Given the description of an element on the screen output the (x, y) to click on. 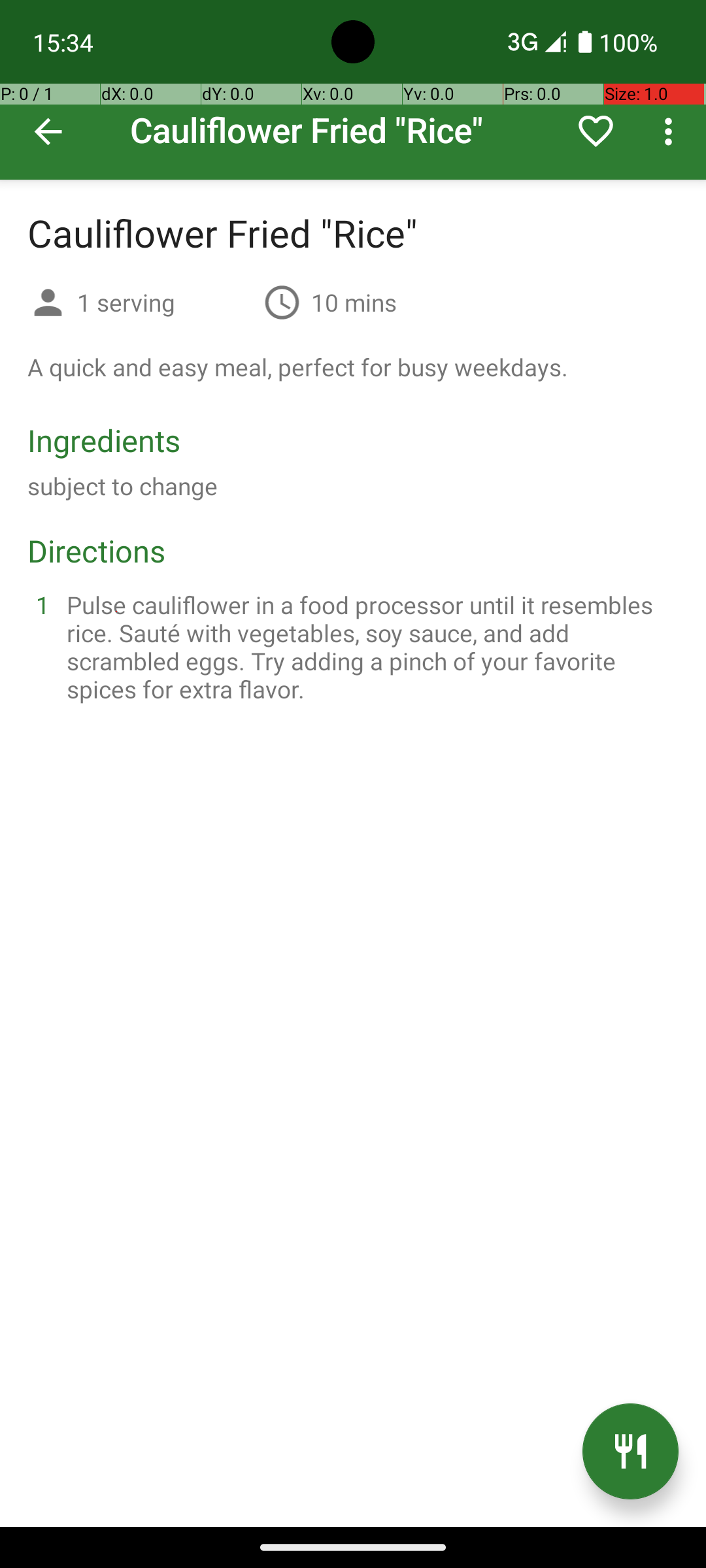
10 mins Element type: android.widget.TextView (353, 301)
subject to change Element type: android.widget.TextView (122, 485)
Pulse cauliflower in a food processor until it resembles rice. Sauté with vegetables, soy sauce, and add scrambled eggs. Try adding a pinch of your favorite spices for extra flavor. Element type: android.widget.TextView (368, 646)
